Given the description of an element on the screen output the (x, y) to click on. 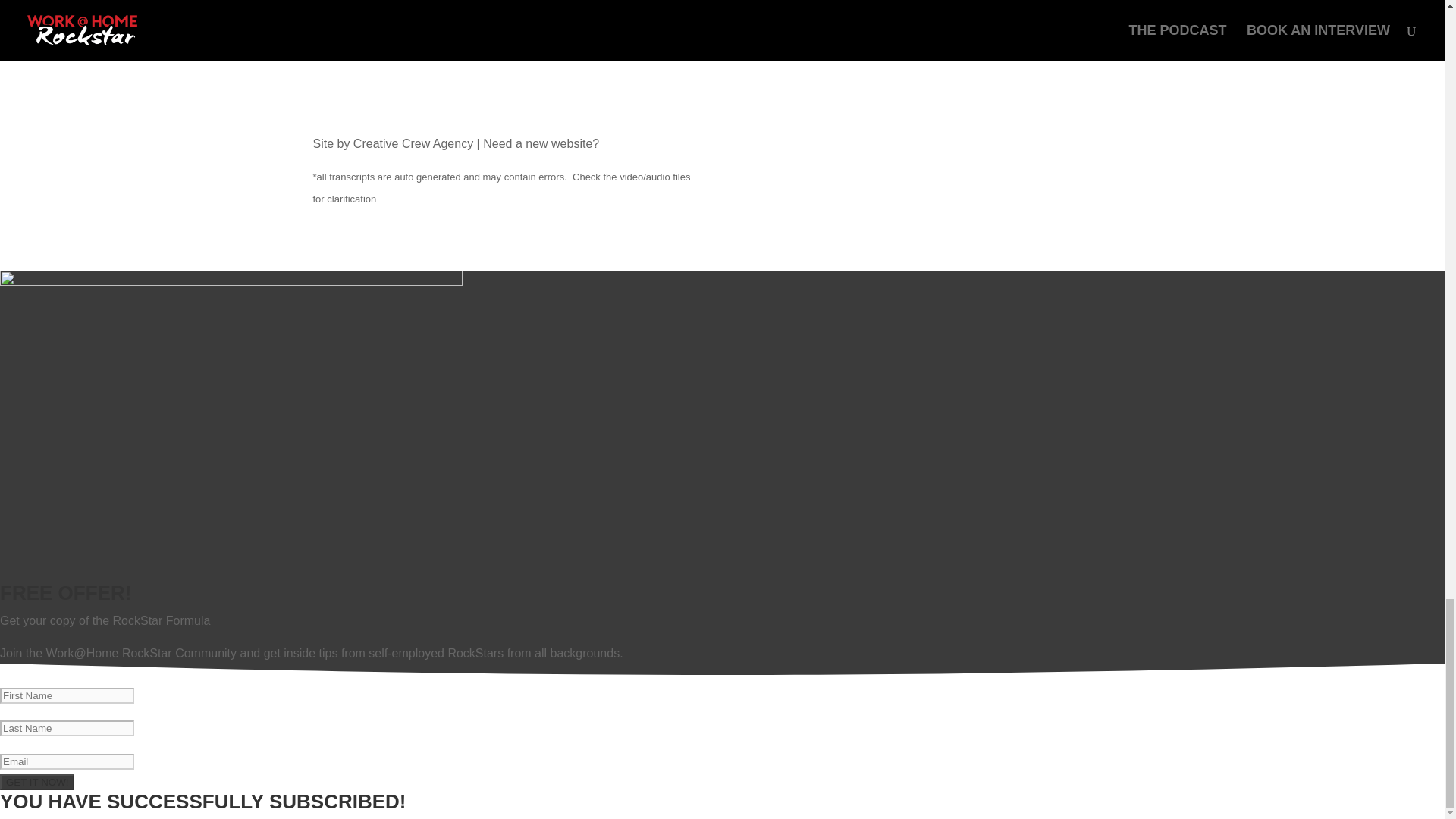
Follow on X (1088, 145)
Follow on Facebook (1058, 145)
Follow on Instagram (1118, 145)
